Given the description of an element on the screen output the (x, y) to click on. 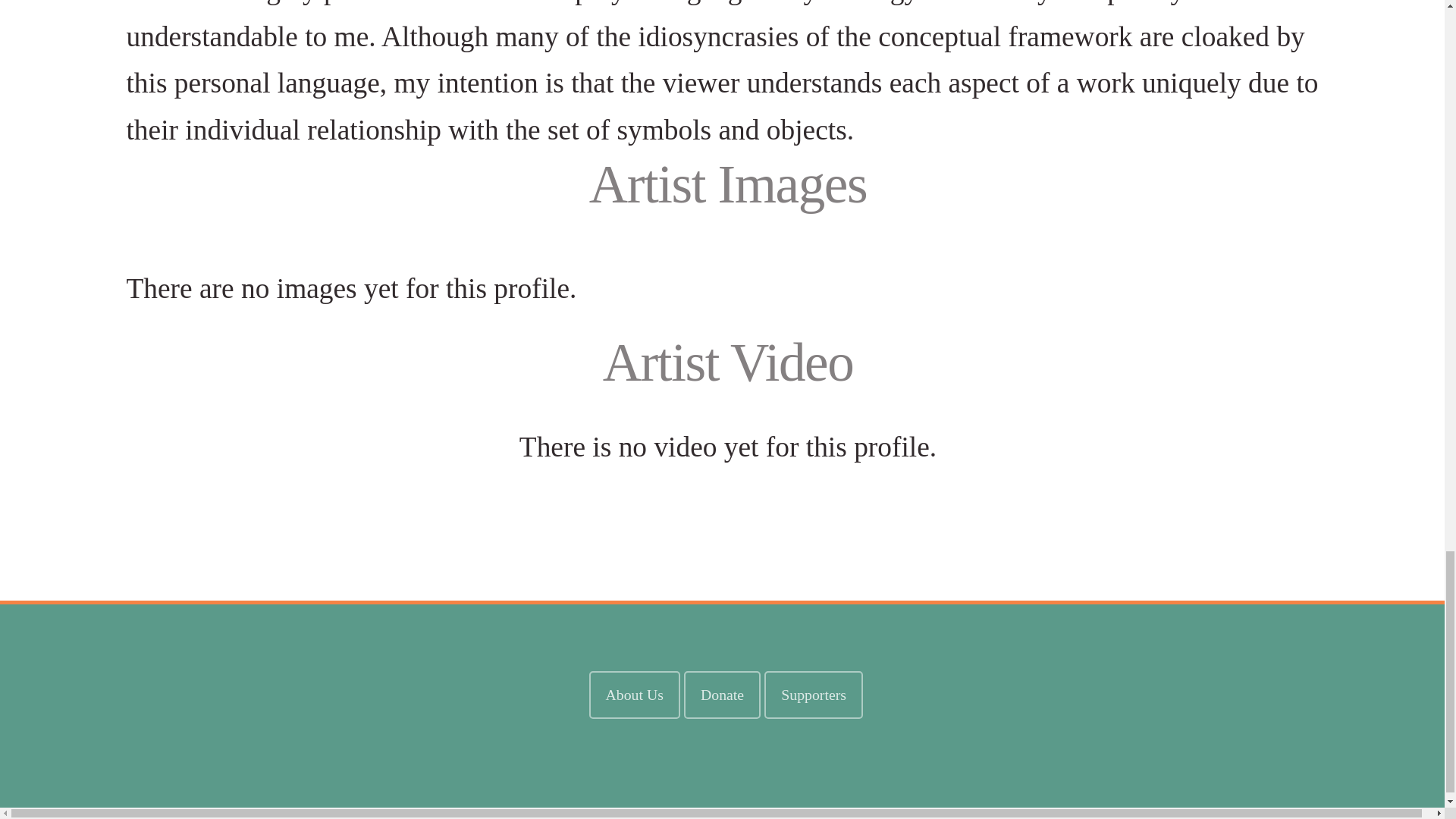
About Us (634, 694)
Donate (722, 694)
Supporters (812, 694)
Learn about our supporting organizations (812, 694)
